Given the description of an element on the screen output the (x, y) to click on. 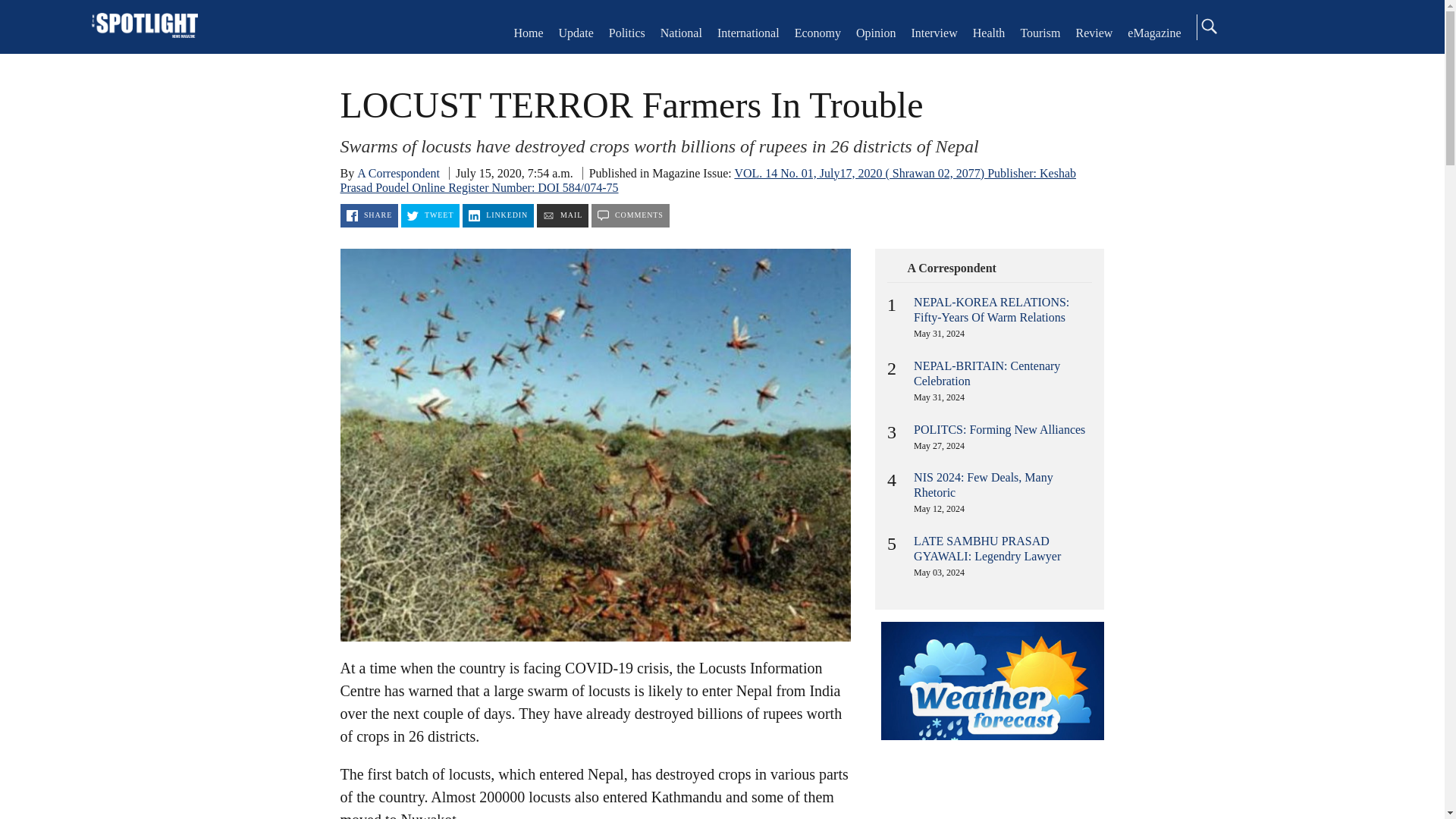
NEPAL-KOREA RELATIONS: Fifty-Years Of Warm Relations (991, 309)
NEPAL-BRITAIN: Centenary Celebration (986, 373)
Opinion (875, 32)
NIS 2024: Few Deals, Many Rhetoric (983, 484)
LATE SAMBHU PRASAD GYAWALI: Legendry Lawyer (987, 548)
A Correspondent (951, 268)
MAIL (563, 215)
Home (144, 26)
Tourism (1039, 32)
Politics (626, 32)
National (681, 32)
International (747, 32)
Comments (630, 215)
POLITCS: Forming New Alliances (999, 429)
Economy (817, 32)
